Given the description of an element on the screen output the (x, y) to click on. 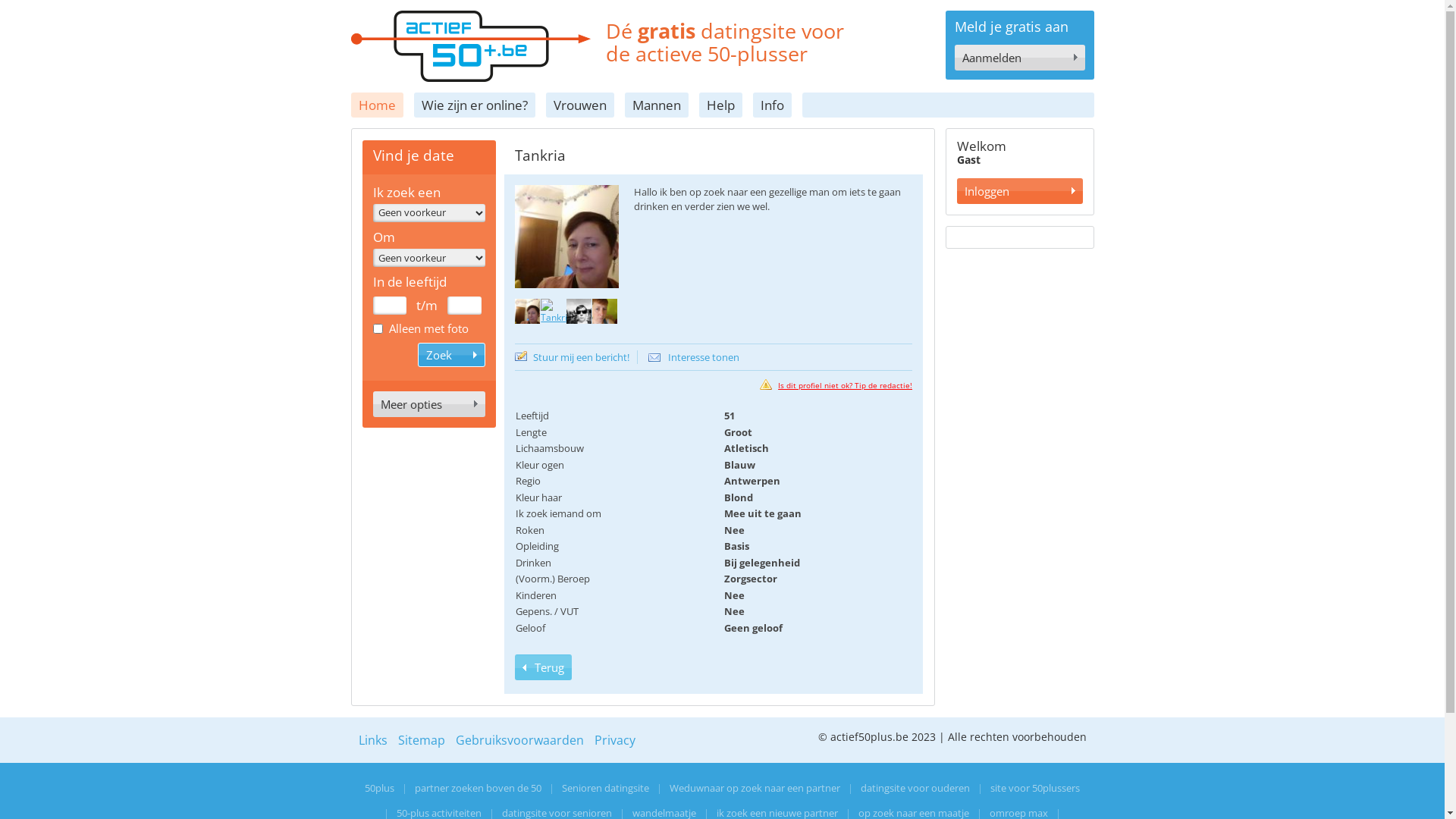
Sitemap Element type: text (420, 740)
Zoek Element type: text (451, 354)
Help Element type: text (720, 104)
Inloggen Element type: text (1019, 190)
Interesse tonen Element type: text (692, 357)
Tankria Element type: hover (526, 314)
Tankria Element type: hover (552, 314)
Mannen Element type: text (656, 104)
Privacy Element type: text (614, 740)
Aanmelden Element type: text (1018, 57)
partner zoeken boven de 50 Element type: text (477, 787)
Senioren datingsite Element type: text (605, 787)
Home Element type: text (376, 104)
Links Element type: text (371, 740)
Meer opties Element type: text (429, 404)
Is dit profiel niet ok? Tip de redactie! Element type: text (835, 385)
Tankria Element type: hover (566, 238)
Tankria Element type: hover (604, 314)
Gebruiksvoorwaarden Element type: text (519, 740)
Terug Element type: text (542, 667)
Vrouwen Element type: text (580, 104)
Weduwnaar op zoek naar een partner Element type: text (754, 787)
site voor 50plussers Element type: text (1035, 787)
Tankria Element type: hover (578, 314)
datingsite voor ouderen Element type: text (915, 787)
Tankria Element type: hover (604, 310)
Info Element type: text (771, 104)
Wie zijn er online? Element type: text (474, 104)
Tankria Element type: hover (556, 310)
Tankria Element type: hover (566, 236)
Stuur mij een bericht! Element type: text (575, 357)
Tankria Element type: hover (526, 310)
Tankria Element type: hover (578, 310)
50plus Element type: text (379, 787)
